Given the description of an element on the screen output the (x, y) to click on. 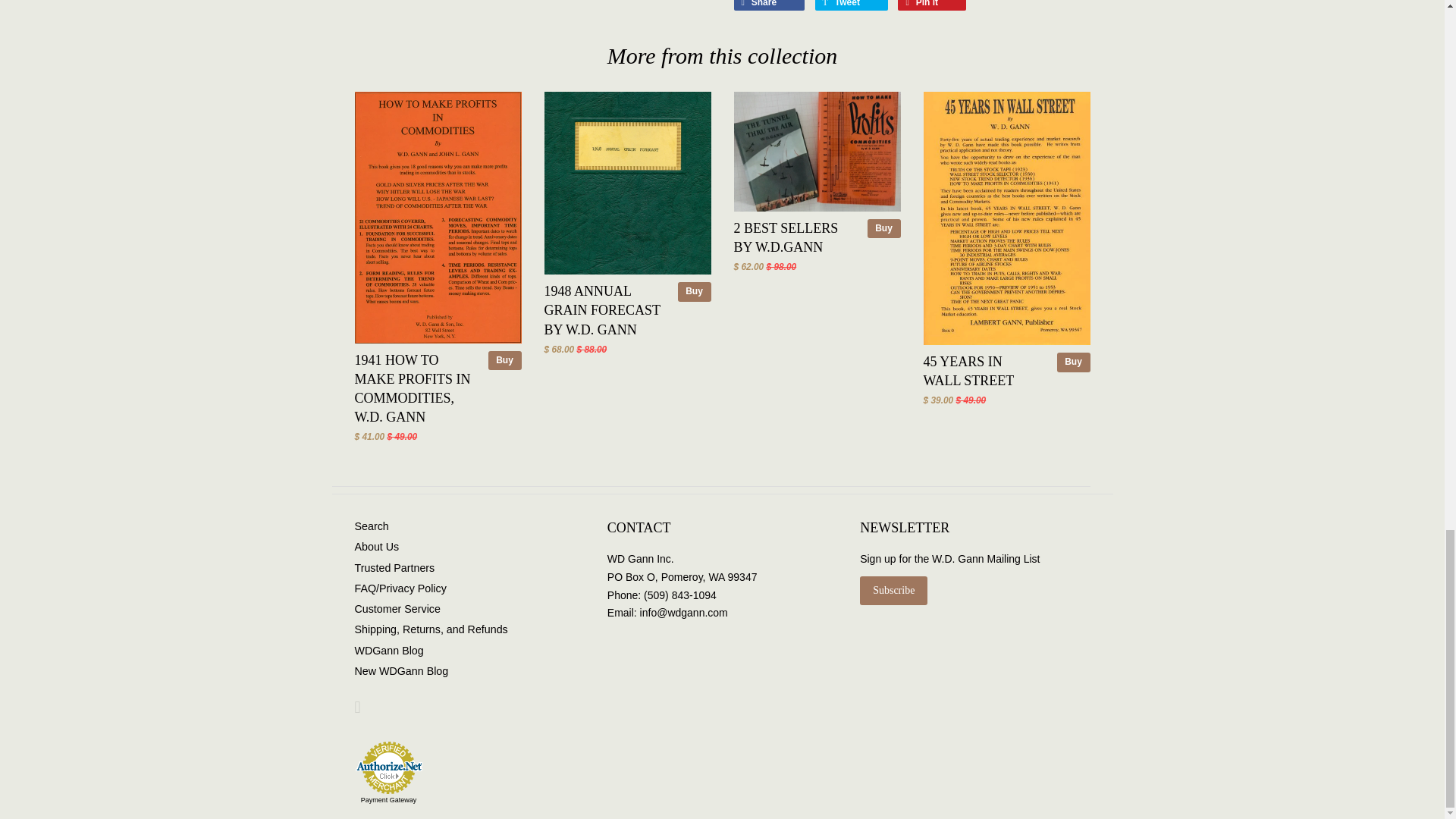
WD Gann, Inc on Facebook (358, 709)
Subscribe (893, 590)
